Given the description of an element on the screen output the (x, y) to click on. 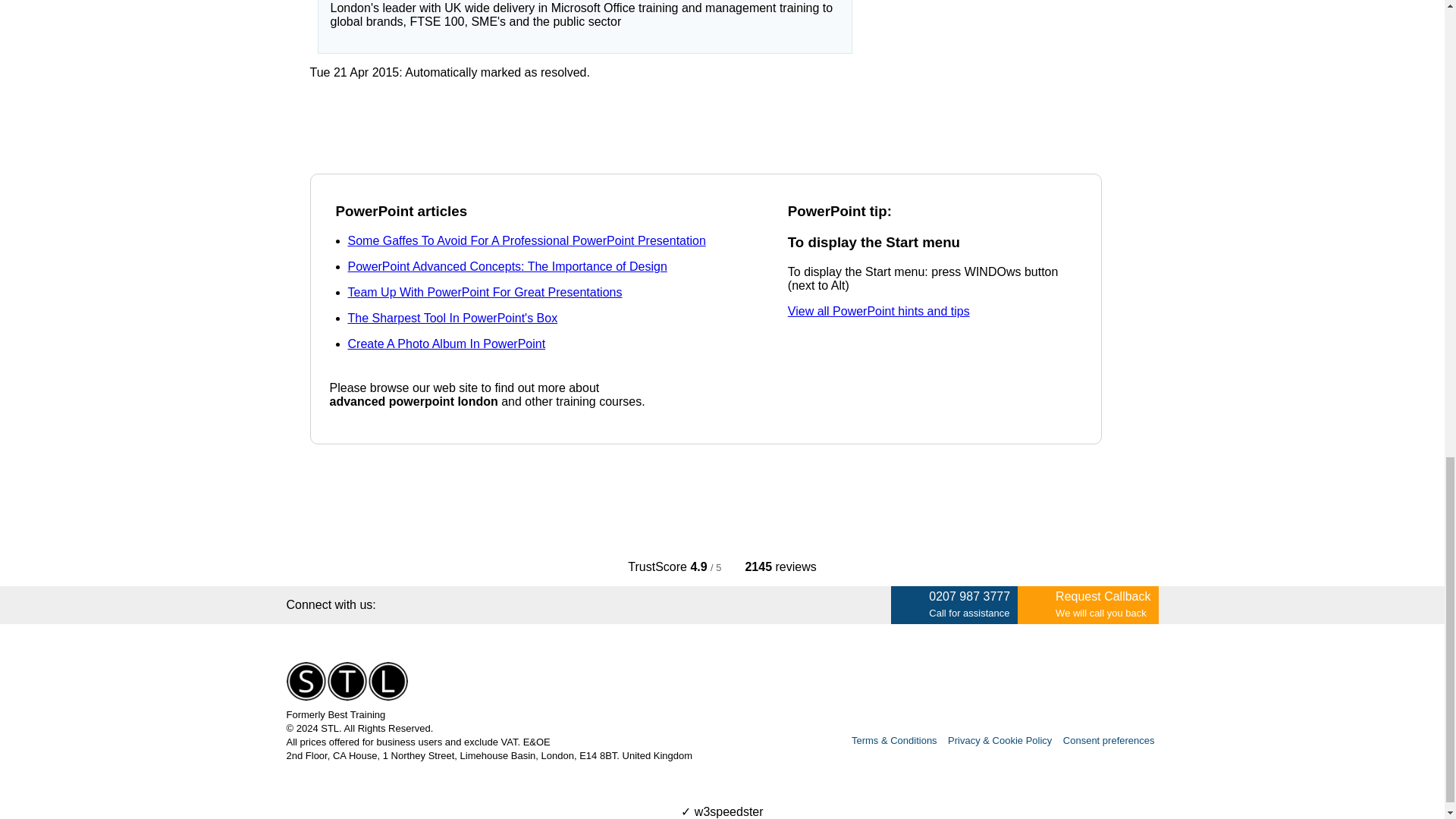
Team Up With PowerPoint For Great Presentations (484, 291)
PowerPoint hints and tips (878, 310)
The Sharpest Tool In PowerPoint's Box (452, 318)
Create A Photo Album In PowerPoint (445, 343)
PowerPoint Advanced Concepts: The Importance of Design (506, 266)
